Given the description of an element on the screen output the (x, y) to click on. 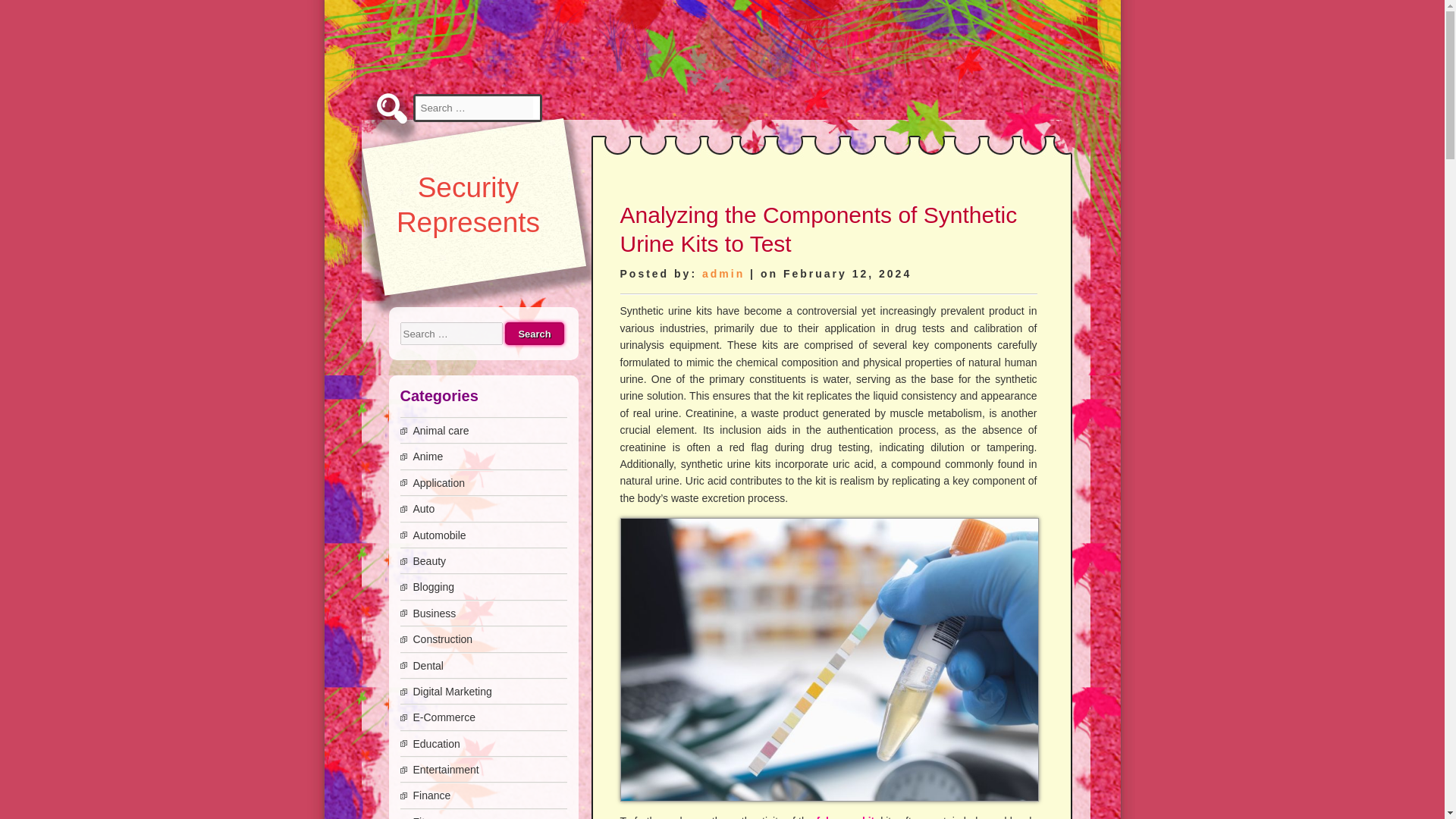
Auto (422, 508)
Beauty (428, 561)
Business (433, 613)
Application (438, 482)
Blogging (433, 586)
Fitness (429, 817)
Animal care (440, 430)
Search (534, 333)
Construction (441, 639)
E-Commerce (443, 717)
Search (534, 333)
Posts by admin (722, 273)
fake pee kit (845, 816)
Anime (427, 456)
Education (436, 743)
